Given the description of an element on the screen output the (x, y) to click on. 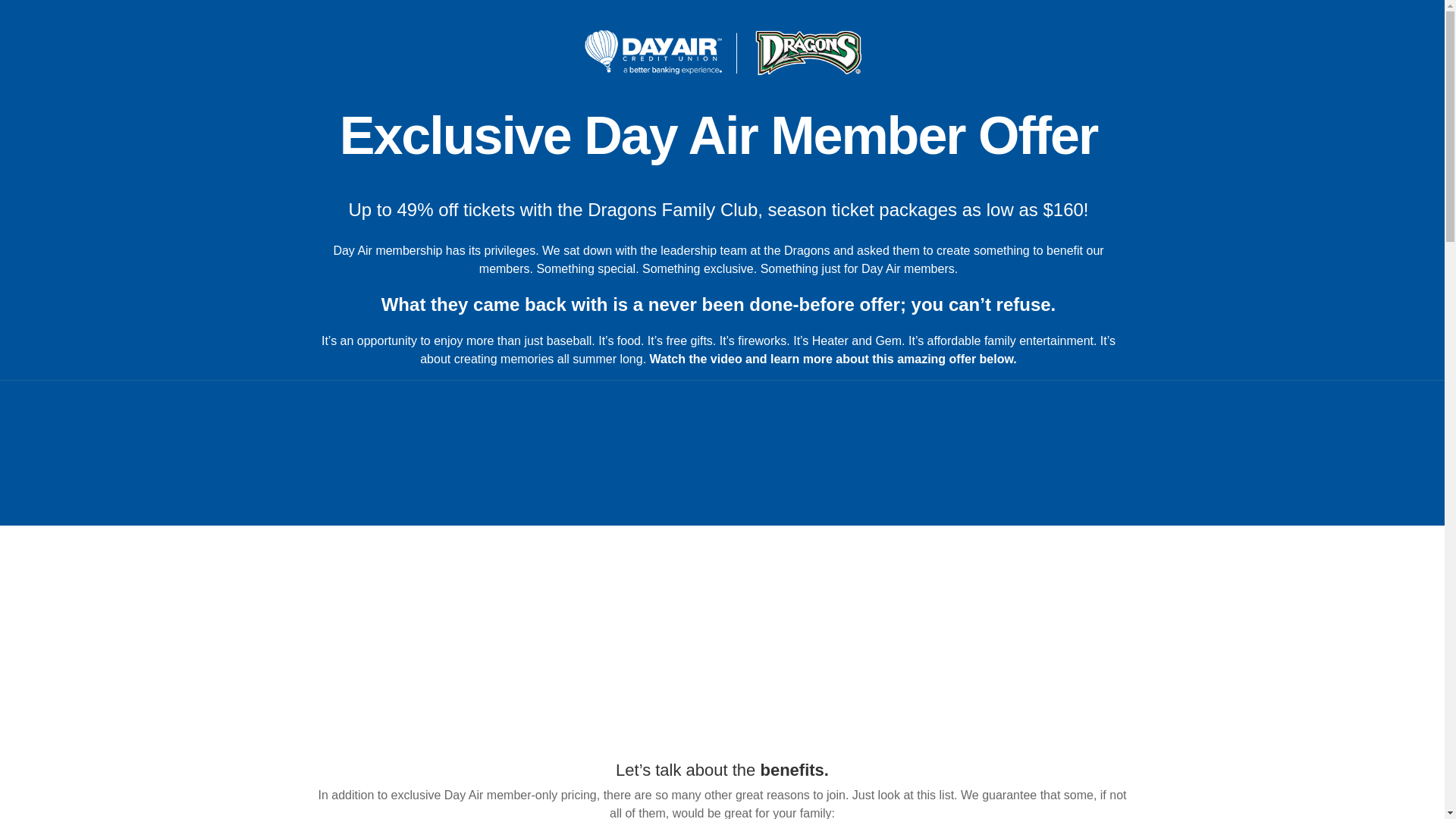
Day Air and Dayton Dragons Logo (721, 52)
